Given the description of an element on the screen output the (x, y) to click on. 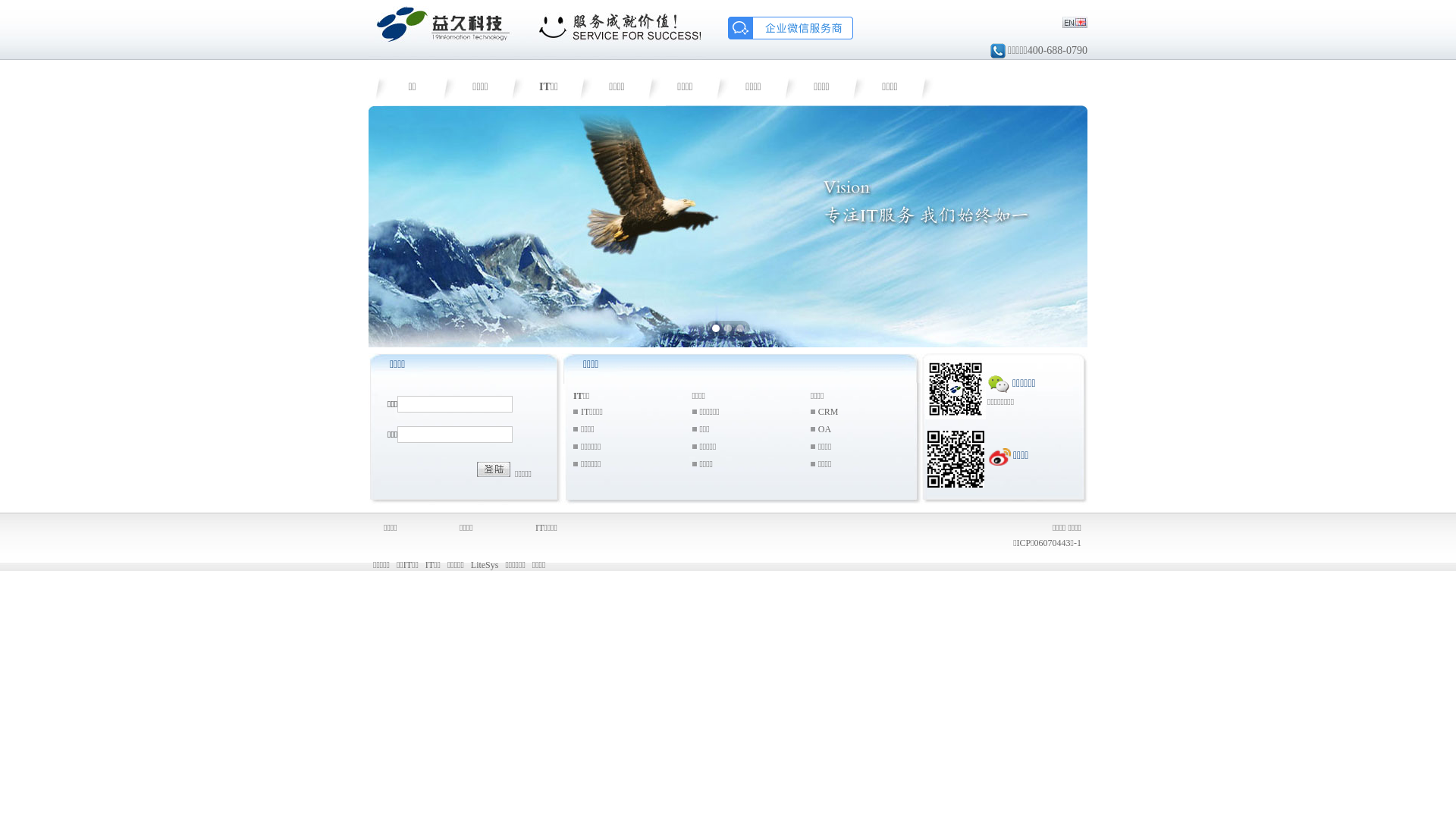
OA Element type: text (824, 428)
CRM Element type: text (828, 411)
LiteSys Element type: text (484, 564)
